Given the description of an element on the screen output the (x, y) to click on. 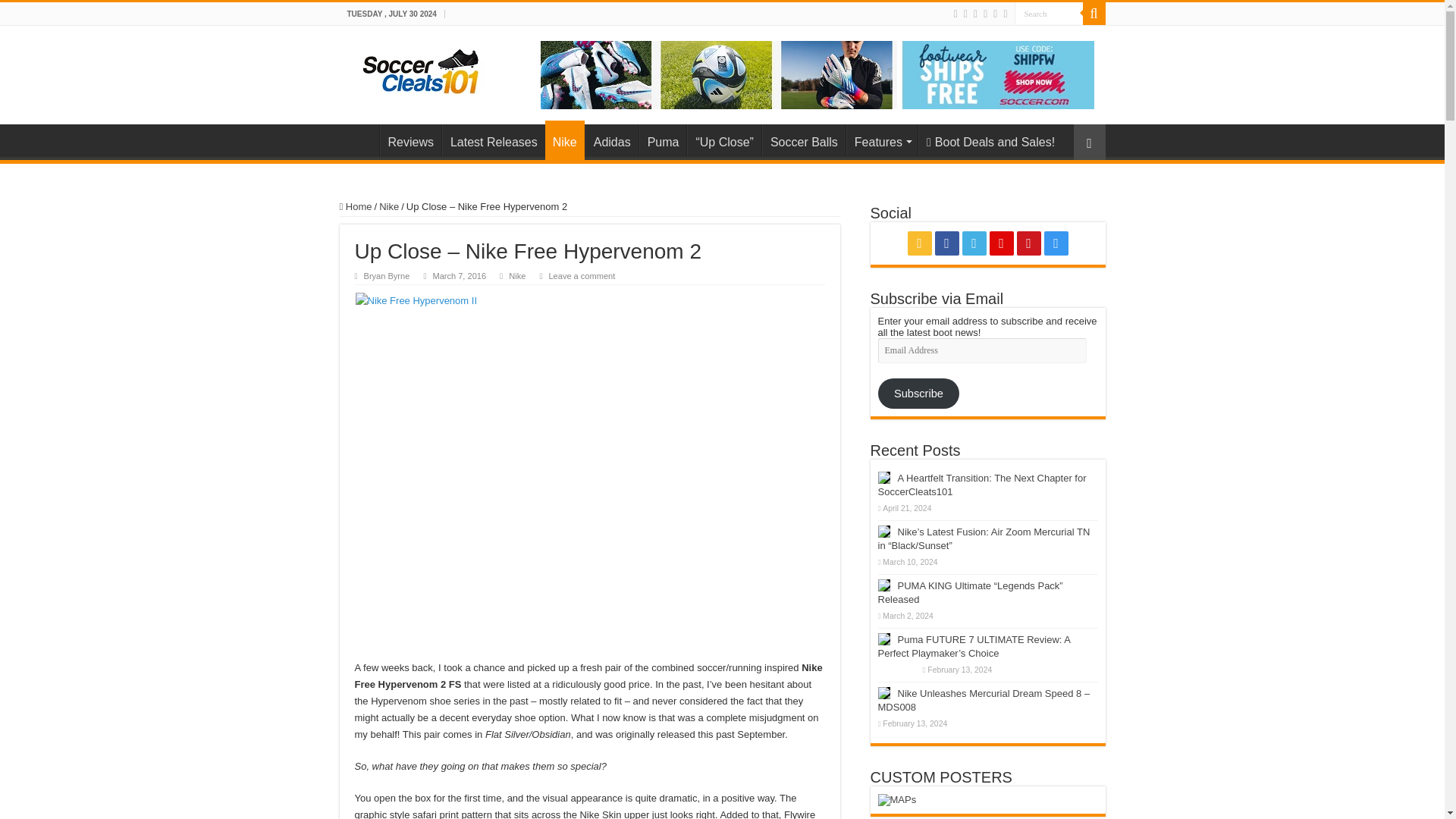
Puma (663, 140)
Search (1048, 13)
Latest Releases (493, 140)
Nike (564, 139)
Home (358, 140)
Features (881, 140)
Soccer Balls (803, 140)
Search (1094, 13)
Reviews (409, 140)
Search (1048, 13)
Adidas (612, 140)
Search (1048, 13)
